Given the description of an element on the screen output the (x, y) to click on. 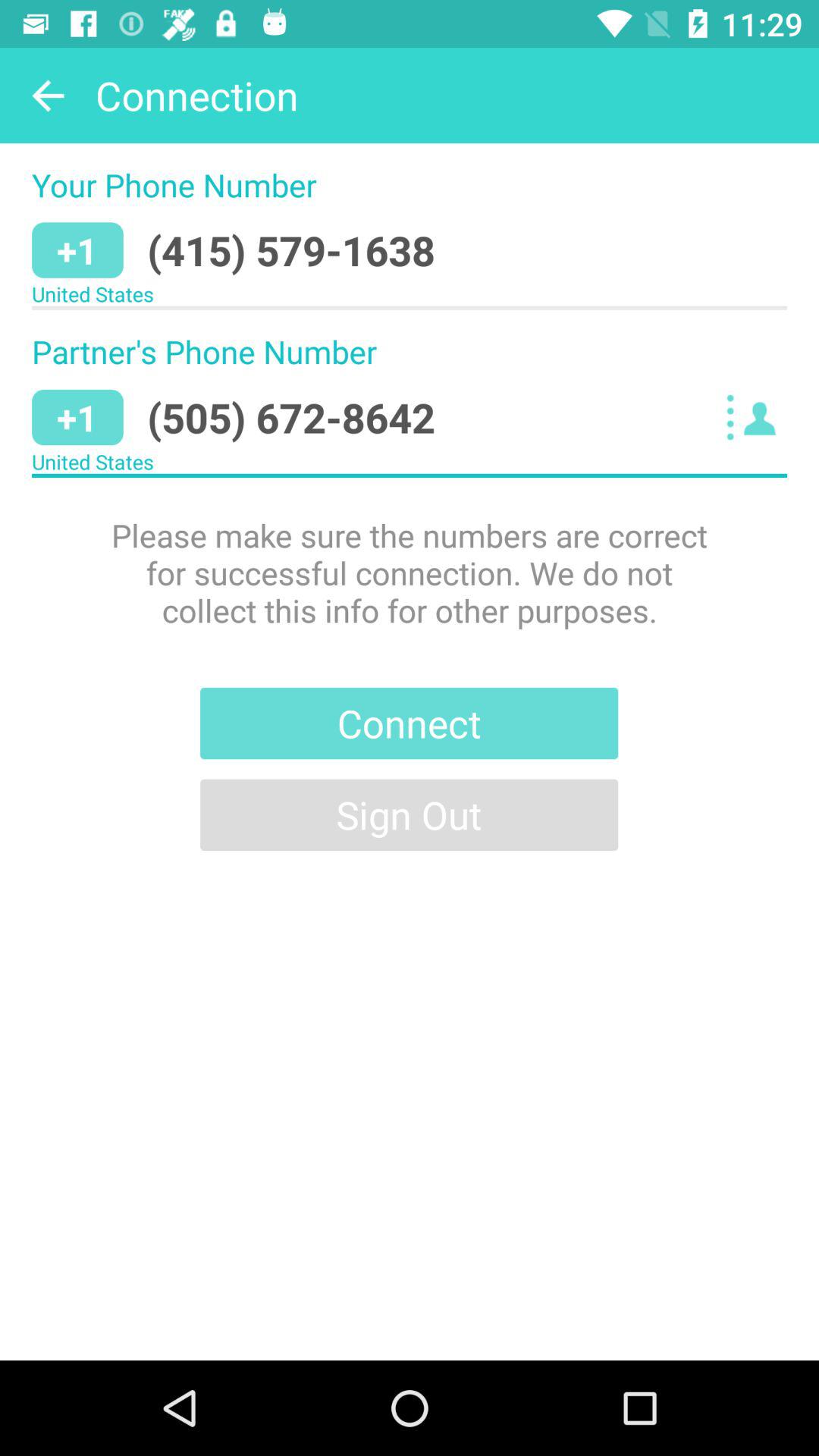
turn on the icon next to the connection icon (47, 95)
